Given the description of an element on the screen output the (x, y) to click on. 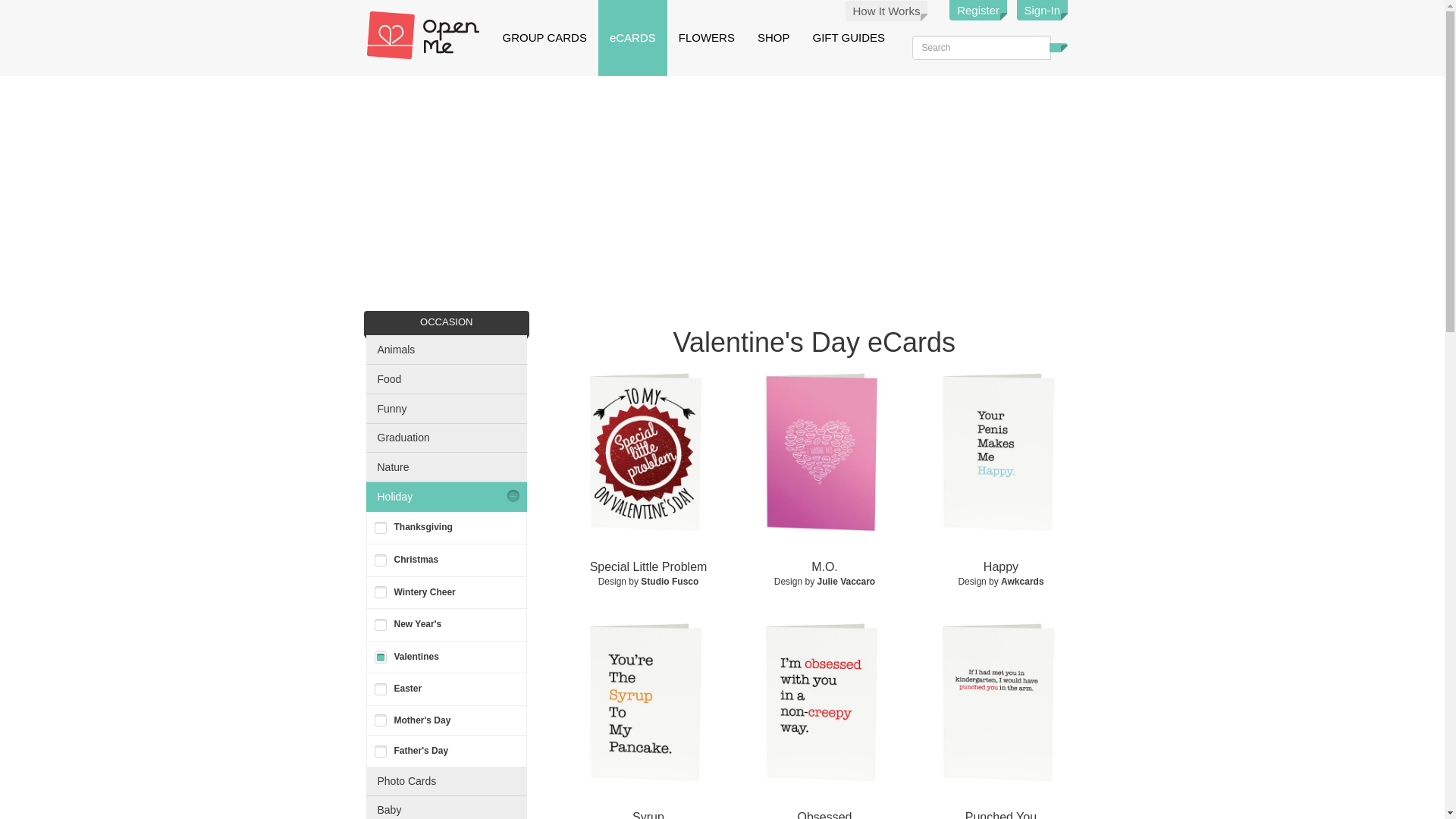
GIFT GUIDES (848, 38)
Home (427, 34)
eCARDS (632, 38)
Enter the terms you wish to search for. (980, 47)
GROUP CARDS (545, 38)
FLOWERS (705, 38)
